Given the description of an element on the screen output the (x, y) to click on. 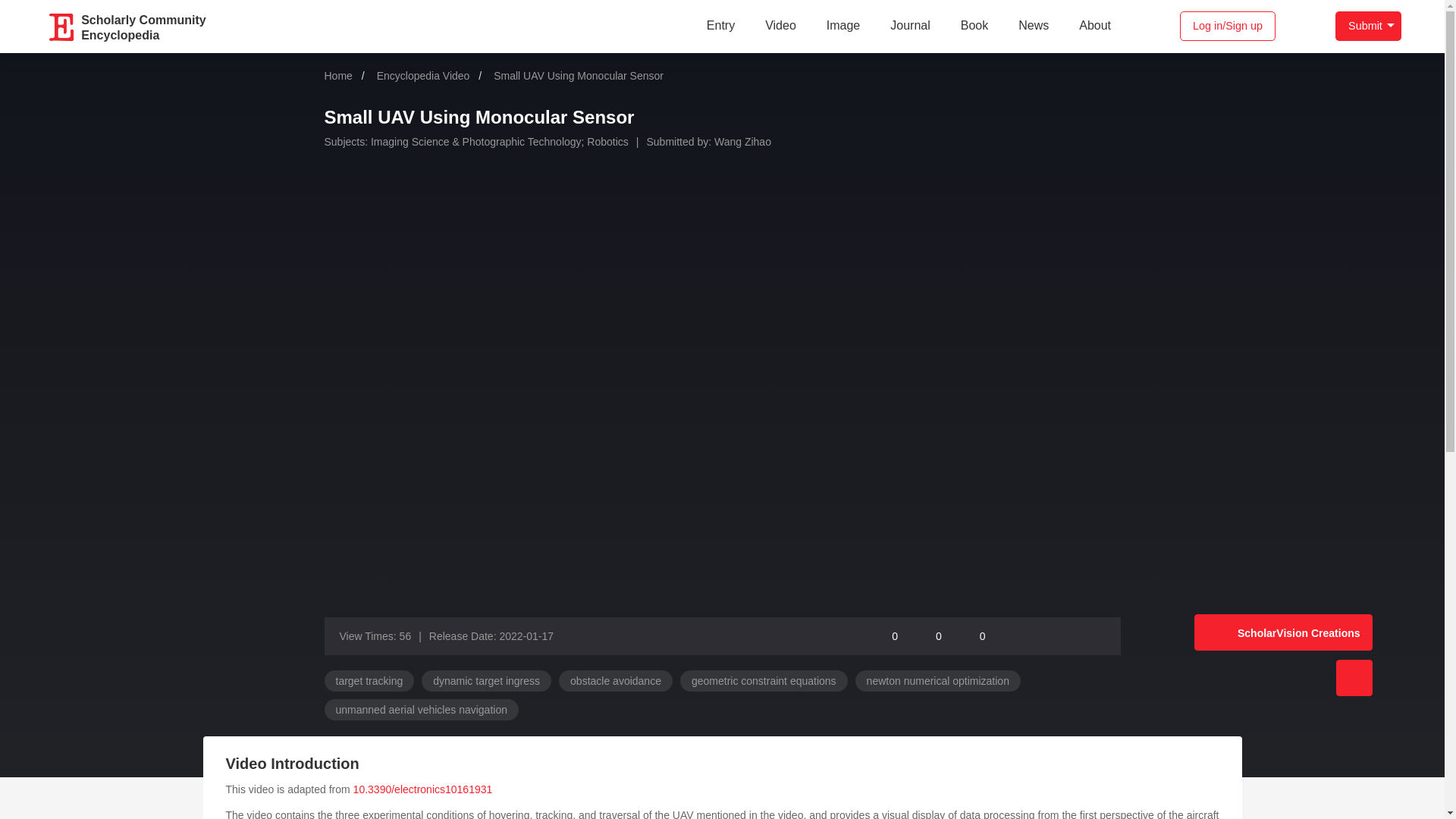
Submit (1367, 25)
Encyclopedia Video (434, 75)
Share (1014, 635)
Report (143, 25)
Favorite (1083, 635)
Book (887, 635)
Wang Zihao (973, 25)
Like (742, 141)
Robotics (930, 635)
